Given the description of an element on the screen output the (x, y) to click on. 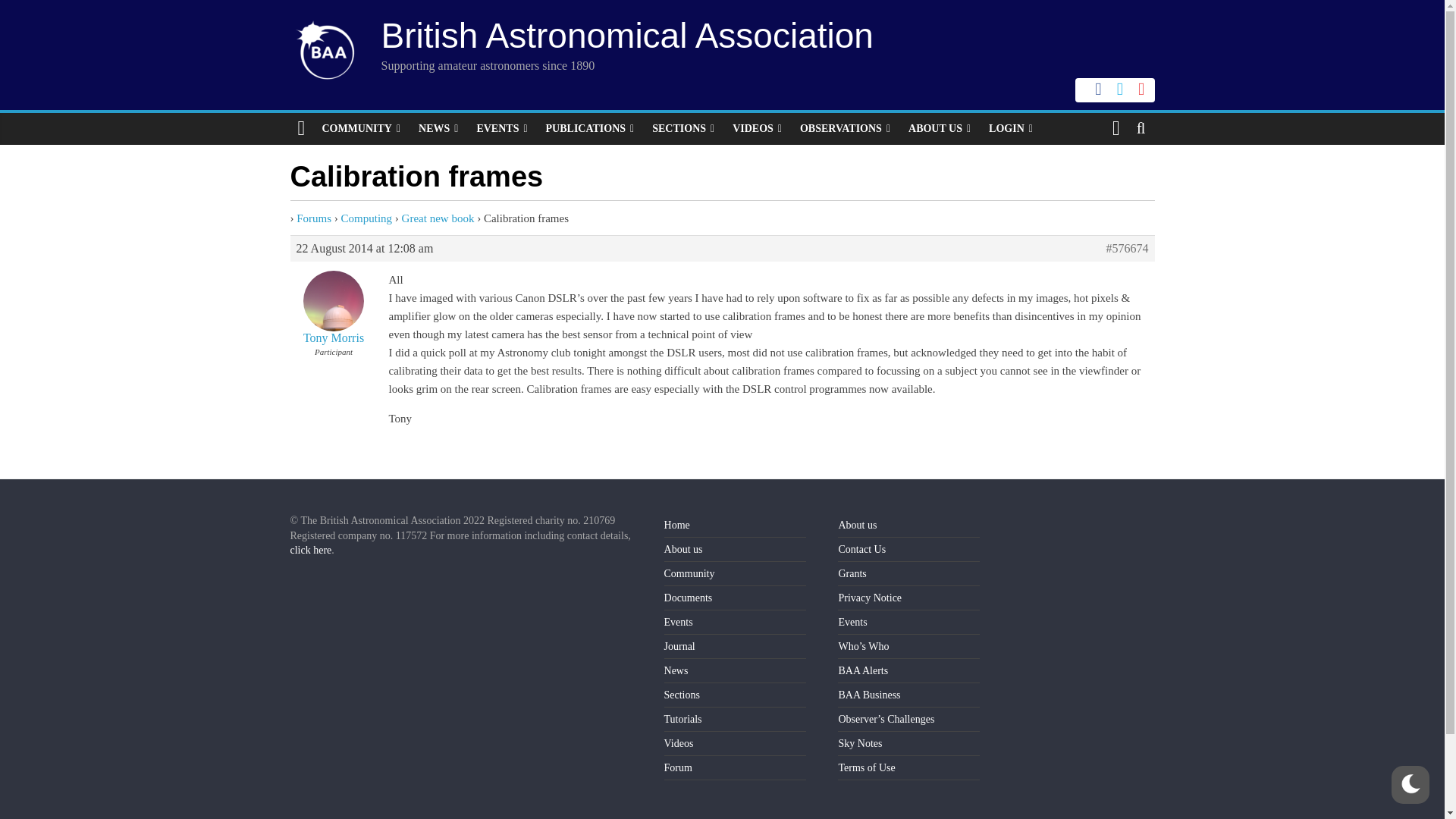
NEWS (438, 128)
View Tony Morris's profile (333, 302)
PUBLICATIONS (590, 128)
British Astronomical Association (626, 35)
COMMUNITY (361, 128)
SECTIONS (683, 128)
British Astronomical Association (626, 35)
EVENTS (501, 128)
